Given the description of an element on the screen output the (x, y) to click on. 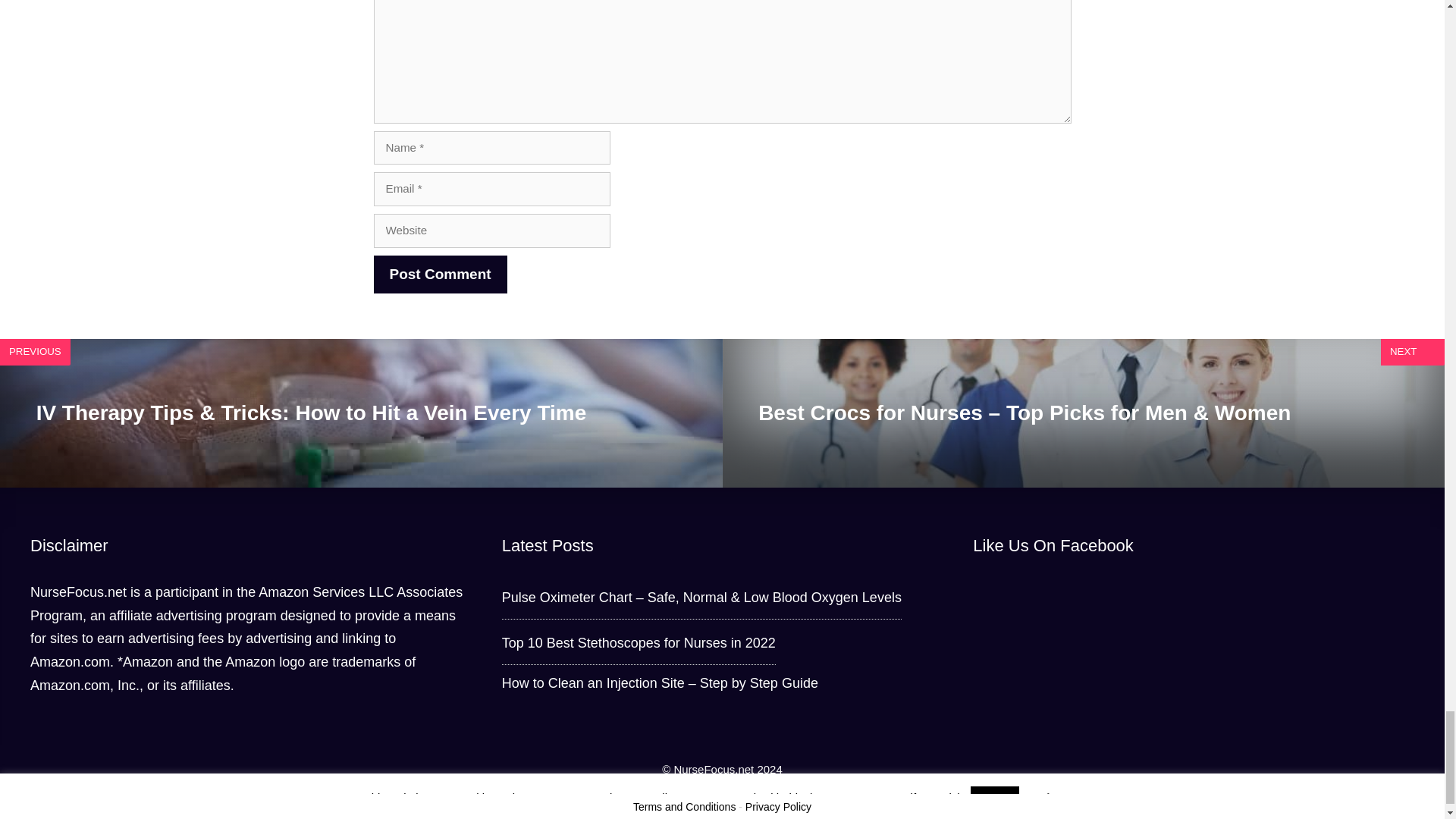
Top 10 Best Stethoscopes for Nurses in 2022 (639, 642)
Post Comment (439, 274)
Post Comment (439, 274)
Amazon (283, 591)
NurseFocus.net (78, 591)
Amazon.com (70, 661)
